Given the description of an element on the screen output the (x, y) to click on. 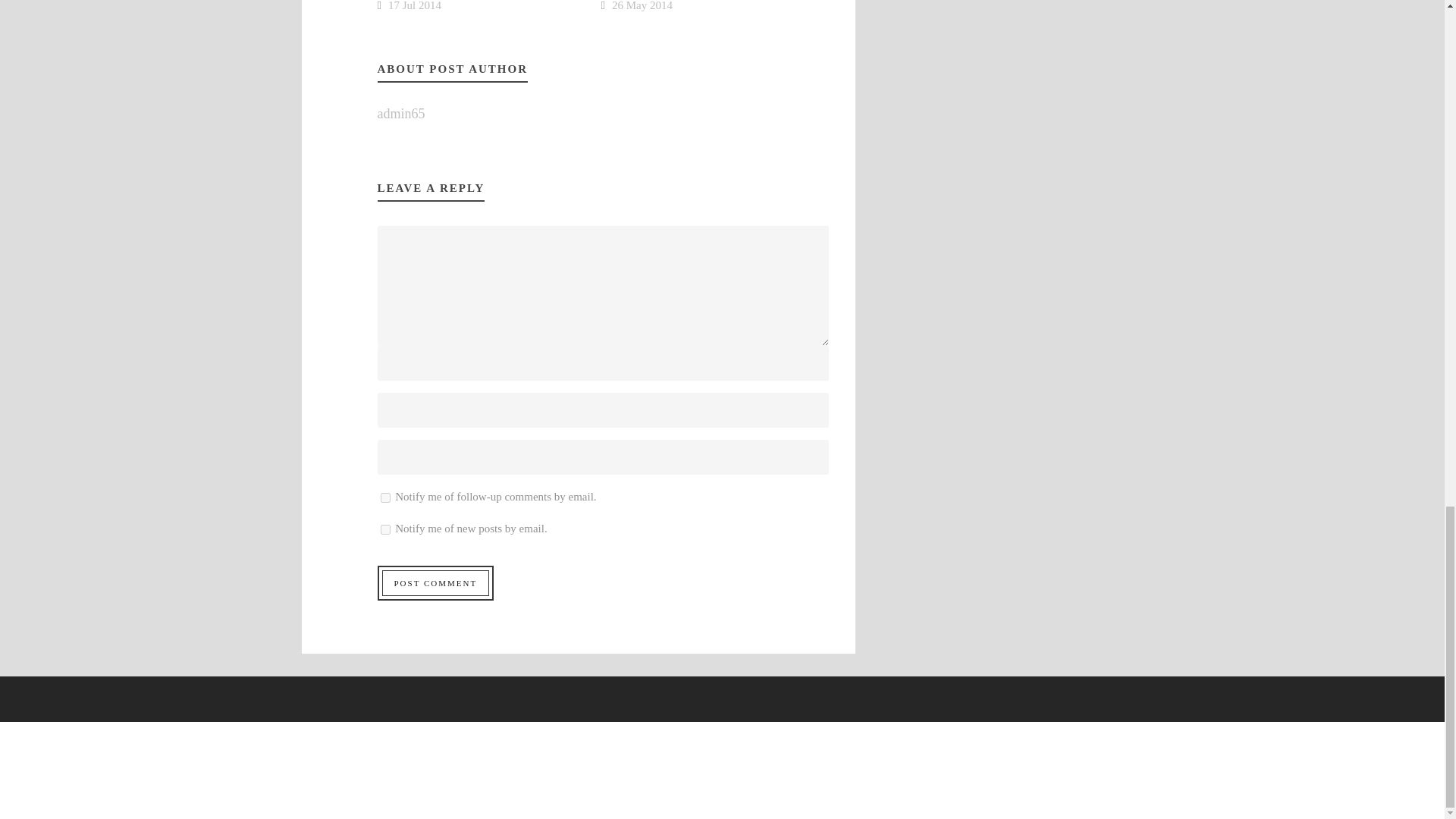
subscribe (385, 497)
subscribe (385, 529)
Posts by admin65 (401, 113)
Post Comment (436, 582)
